Given the description of an element on the screen output the (x, y) to click on. 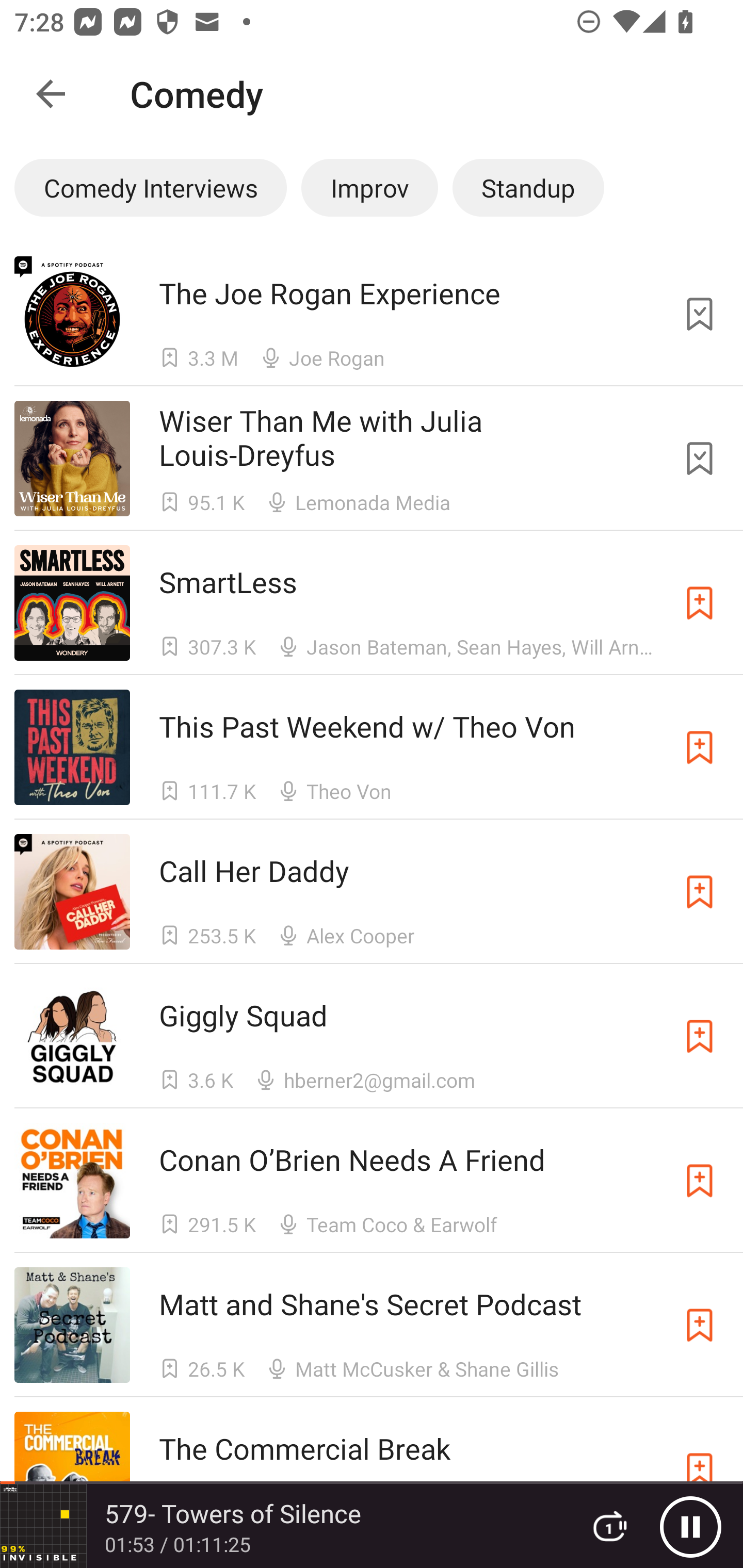
Navigate up (50, 93)
Comedy Interviews (150, 187)
Improv (369, 187)
Standup (528, 187)
Unsubscribe (699, 313)
Unsubscribe (699, 458)
Subscribe (699, 602)
Subscribe (699, 746)
Subscribe (699, 892)
Subscribe (699, 1036)
Subscribe (699, 1180)
Subscribe (699, 1324)
579- Towers of Silence 01:53 / 01:11:25 (283, 1525)
Pause (690, 1526)
